Given the description of an element on the screen output the (x, y) to click on. 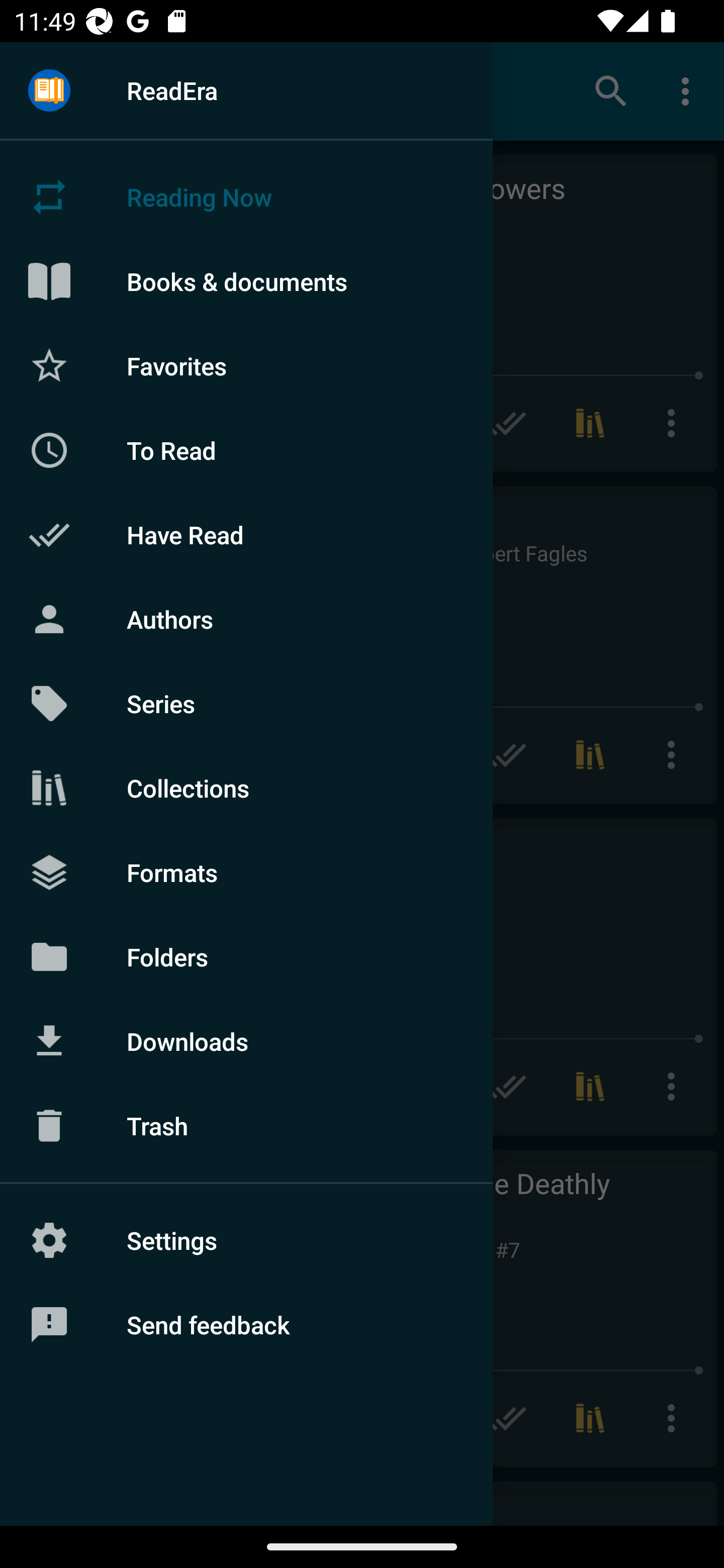
Menu (49, 91)
ReadEra (246, 89)
Search books & documents (611, 90)
More options (688, 90)
Reading Now (246, 197)
Books & documents (246, 281)
Favorites (246, 365)
To Read (246, 449)
Have Read (246, 534)
Authors (246, 619)
Series (246, 703)
Collections (246, 787)
Formats (246, 871)
Folders (246, 956)
Downloads (246, 1040)
Trash (246, 1125)
Settings (246, 1239)
Send feedback (246, 1324)
